Given the description of an element on the screen output the (x, y) to click on. 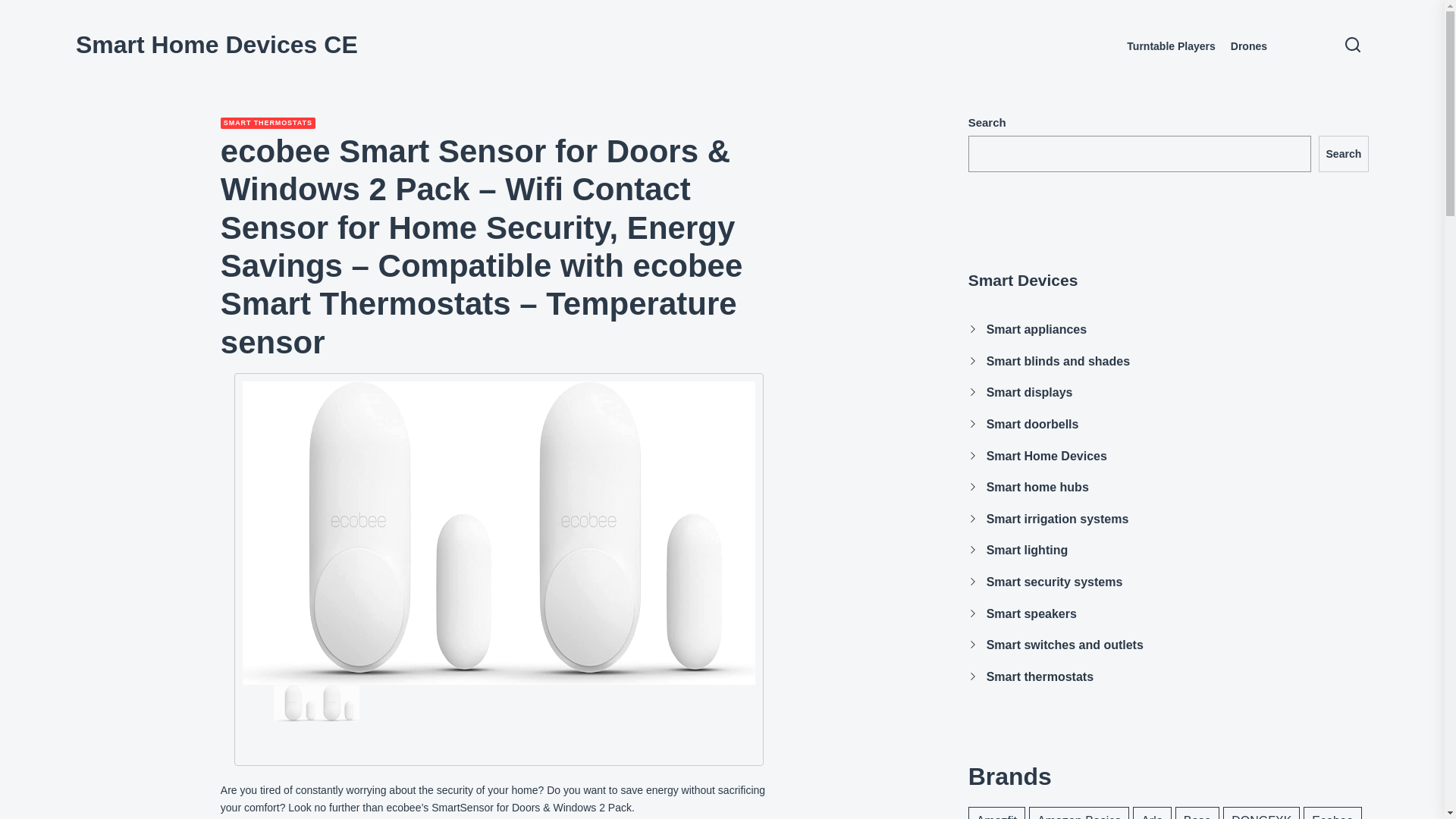
Drones (1248, 46)
Smart Home Devices CE (216, 44)
Turntable Players (1170, 46)
Search (1343, 153)
SMART THERMOSTATS (268, 122)
Smart appliances (1037, 328)
